Given the description of an element on the screen output the (x, y) to click on. 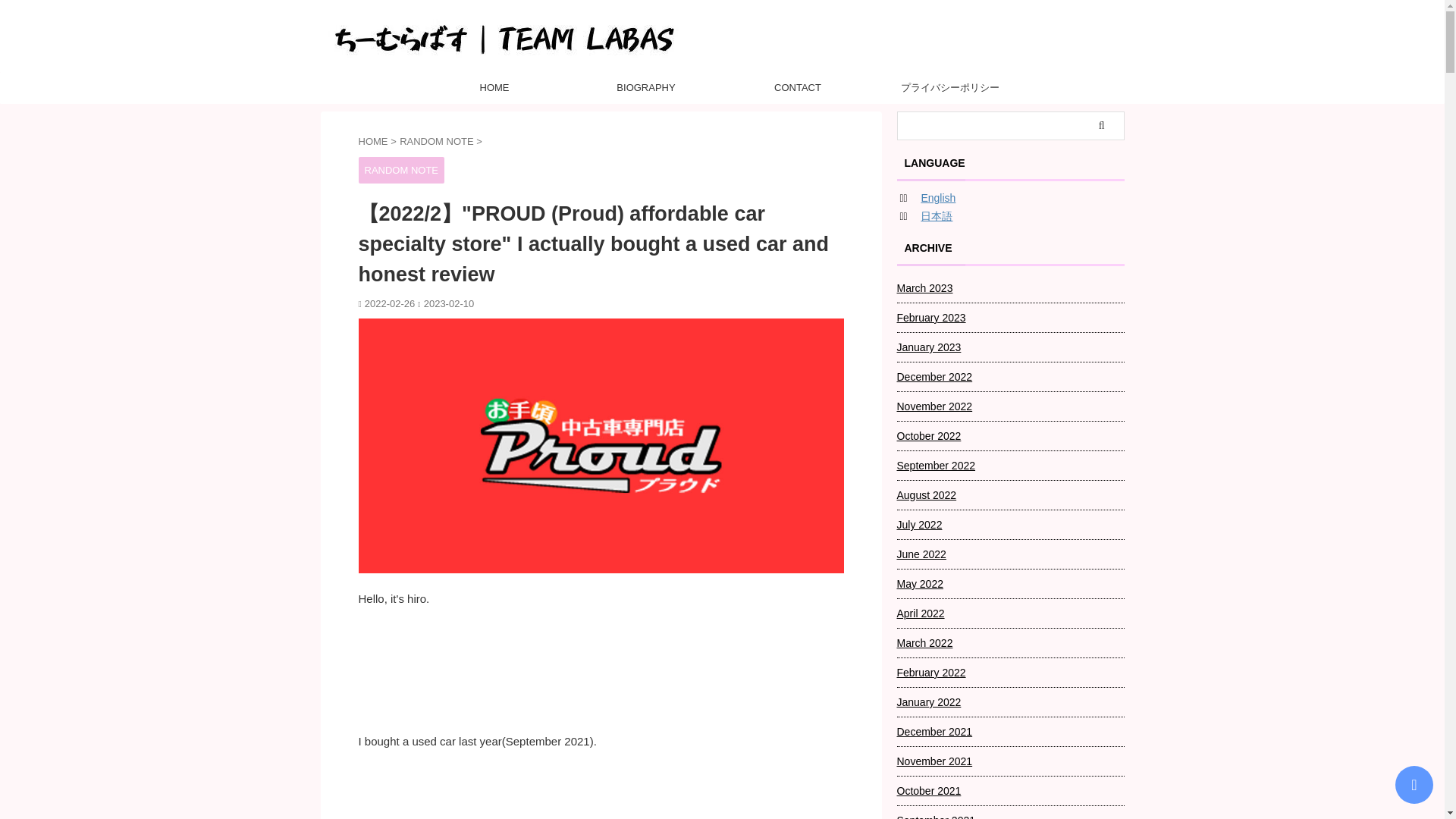
HOME (374, 141)
View all posts in RANDOM NOTE (401, 170)
RANDOM NOTE (437, 141)
English (937, 197)
HOME (494, 87)
Japanese (936, 215)
RANDOM NOTE (401, 170)
CONTACT (797, 87)
BIOGRAPHY (645, 87)
